Given the description of an element on the screen output the (x, y) to click on. 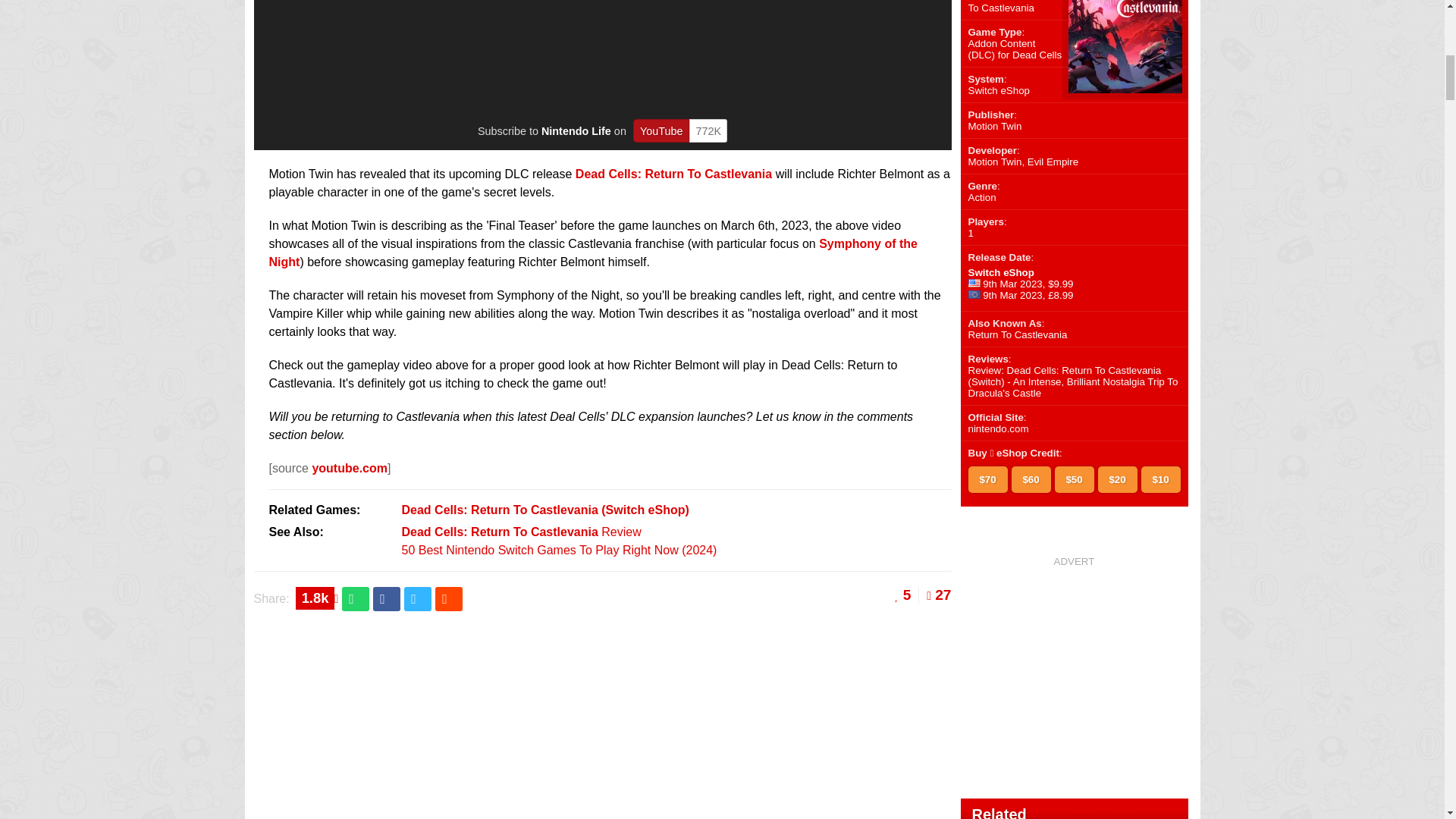
YouTube Video (605, 55)
